Given the description of an element on the screen output the (x, y) to click on. 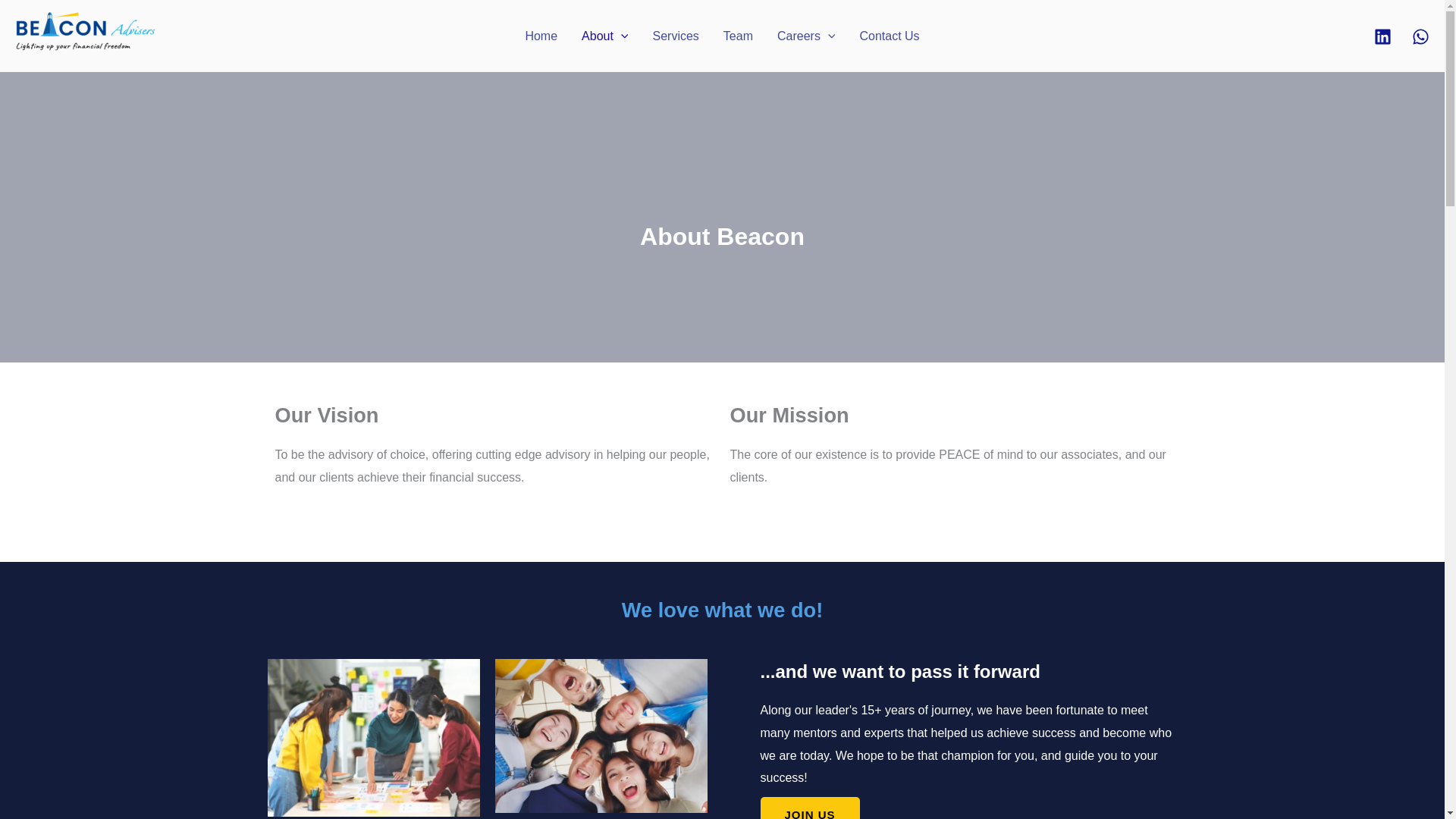
Team (738, 36)
About (604, 36)
Contact Us (889, 36)
Services (675, 36)
JOIN US (809, 807)
Home (540, 36)
Careers (806, 36)
